Given the description of an element on the screen output the (x, y) to click on. 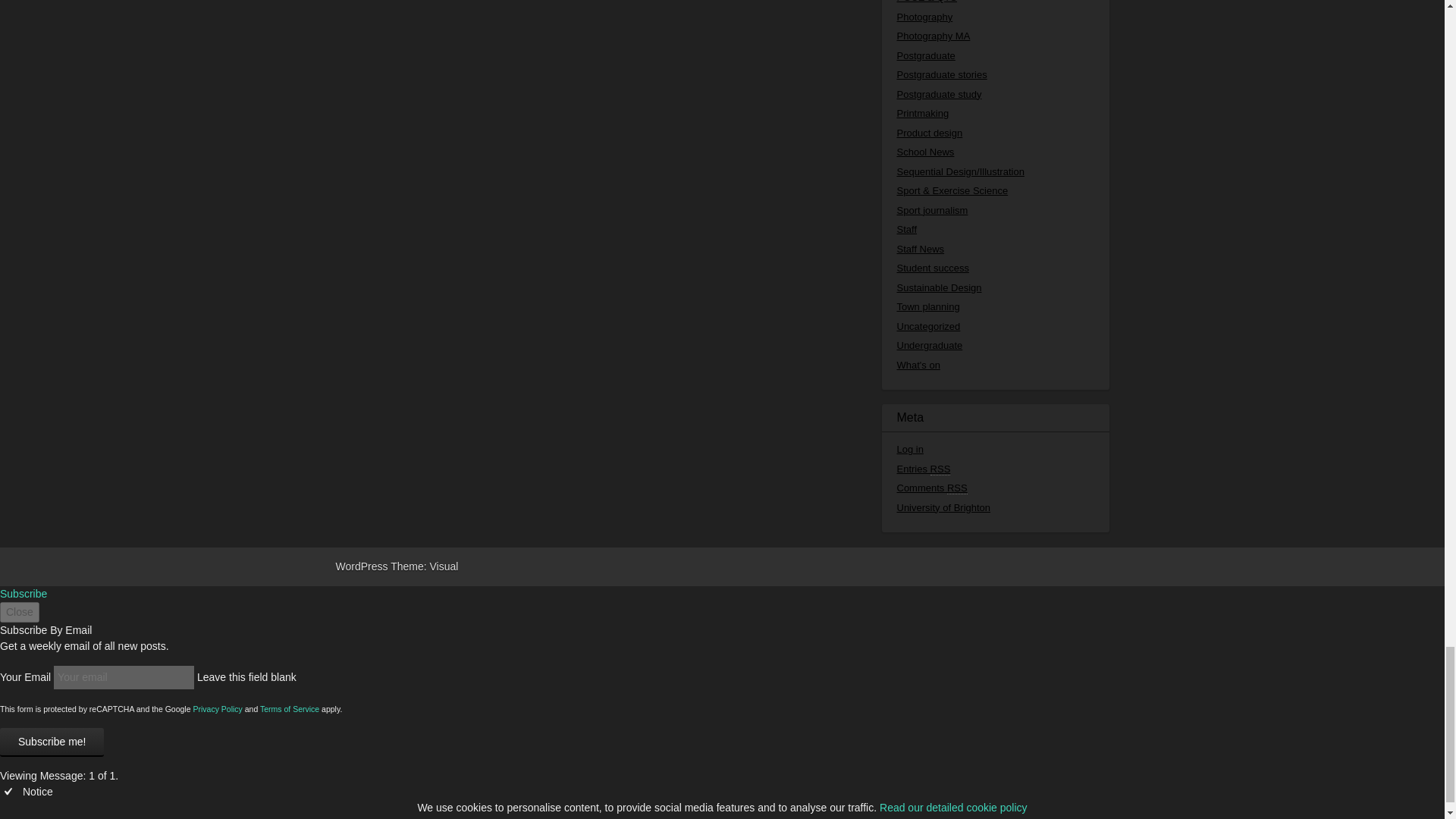
Really Simple Syndication (957, 488)
Subscribe me! (51, 742)
Syndicate this site using RSS 2.0 (923, 468)
A Semantic Personal Publishing Platform (360, 566)
Powered by University of Brighton (943, 507)
Really Simple Syndication (940, 468)
The latest comments to all posts in RSS (931, 488)
